Given the description of an element on the screen output the (x, y) to click on. 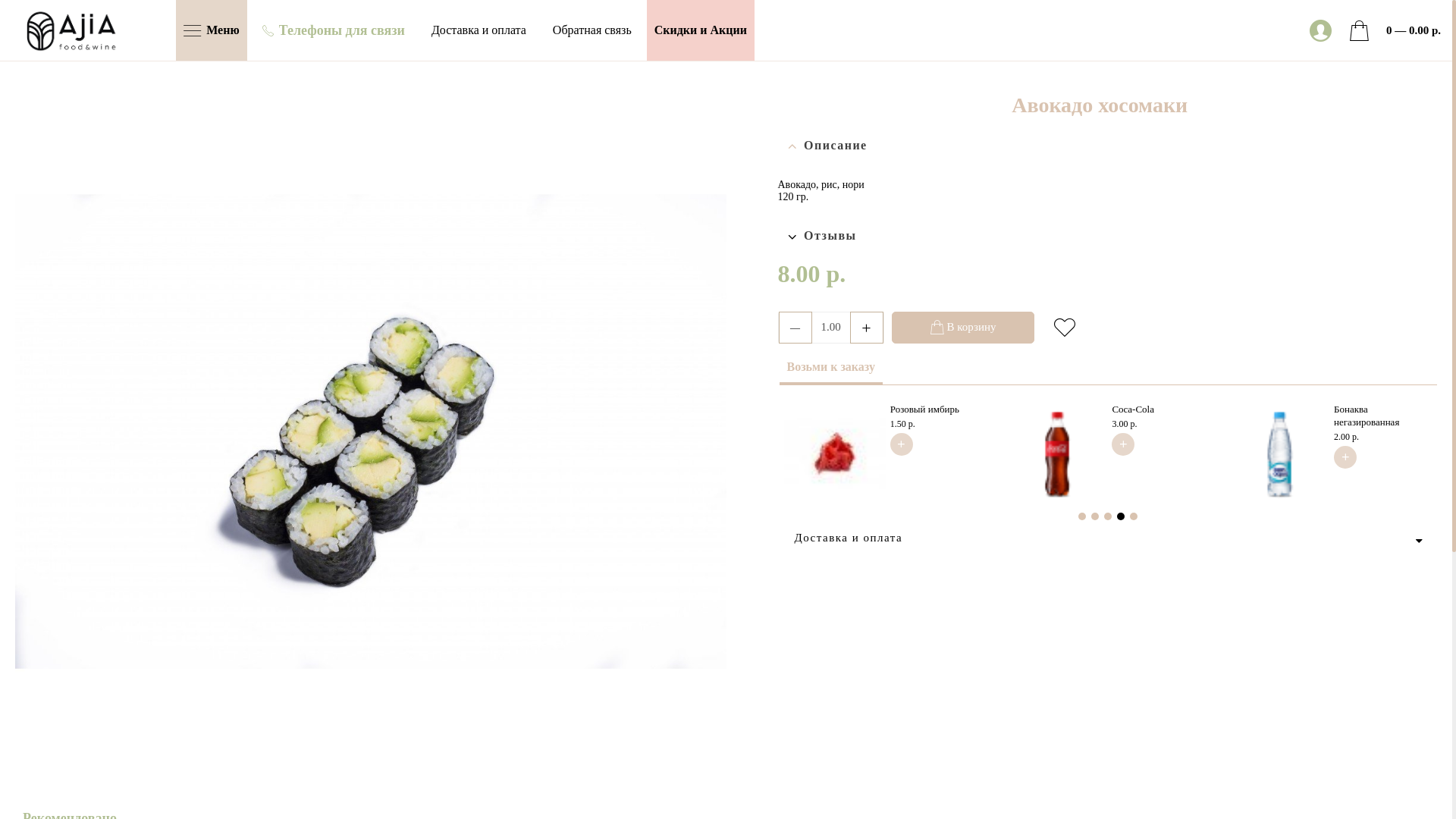
Coca-Cola Element type: hover (1056, 452)
AJIA food&wine Element type: hover (76, 30)
